Given the description of an element on the screen output the (x, y) to click on. 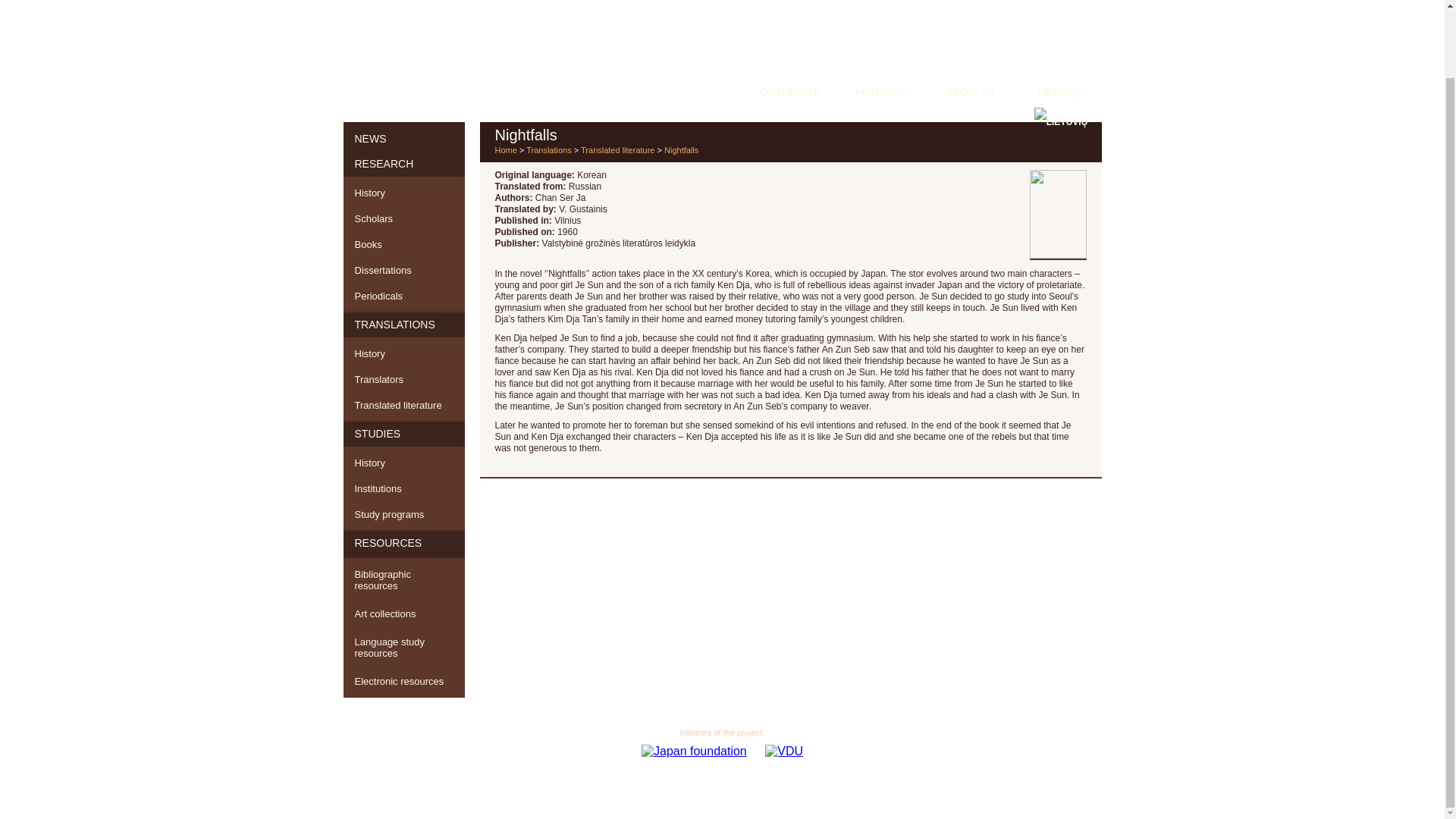
unactive (403, 543)
Go to Nightfalls. (680, 149)
Nightfalls (680, 149)
History (403, 190)
STUDIES (403, 433)
Electronic resources (403, 682)
Top (1408, 707)
Translations. (548, 149)
unactive (403, 324)
TRANSLATIONS (403, 324)
